Given the description of an element on the screen output the (x, y) to click on. 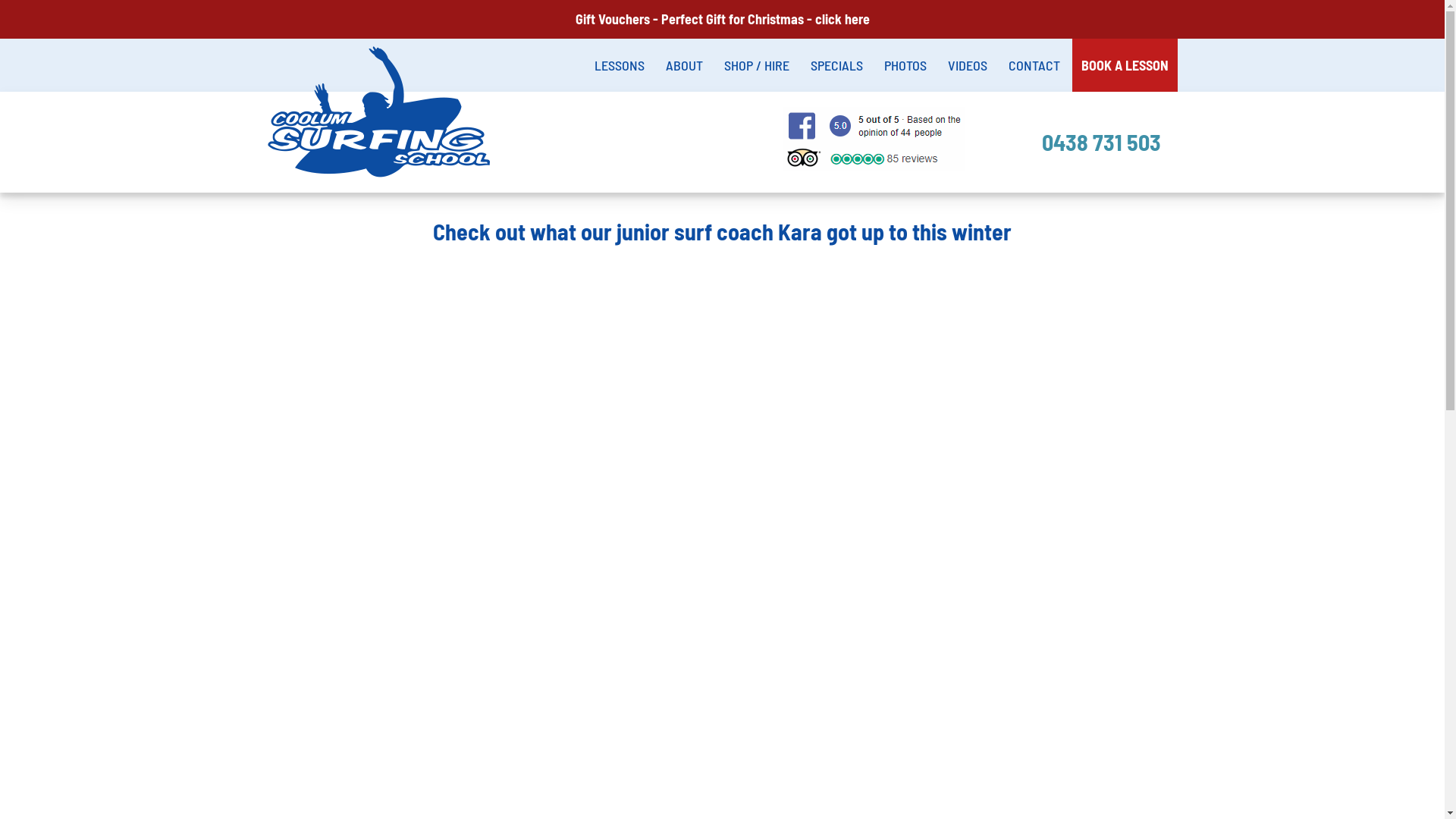
Gift Vouchers - Perfect Gift for Christmas - click here Element type: text (721, 20)
SHOP / HIRE Element type: text (755, 64)
PHOTOS Element type: text (905, 64)
Kara Petersen Surfer and ocean lover Element type: hover (721, 550)
CONTACT Element type: text (1034, 64)
ABOUT Element type: text (684, 64)
LESSONS Element type: text (619, 64)
BOOK A LESSON Element type: text (1124, 64)
VIDEOS Element type: text (967, 64)
0438 731 503 Element type: text (1101, 144)
SPECIALS Element type: text (835, 64)
